Given the description of an element on the screen output the (x, y) to click on. 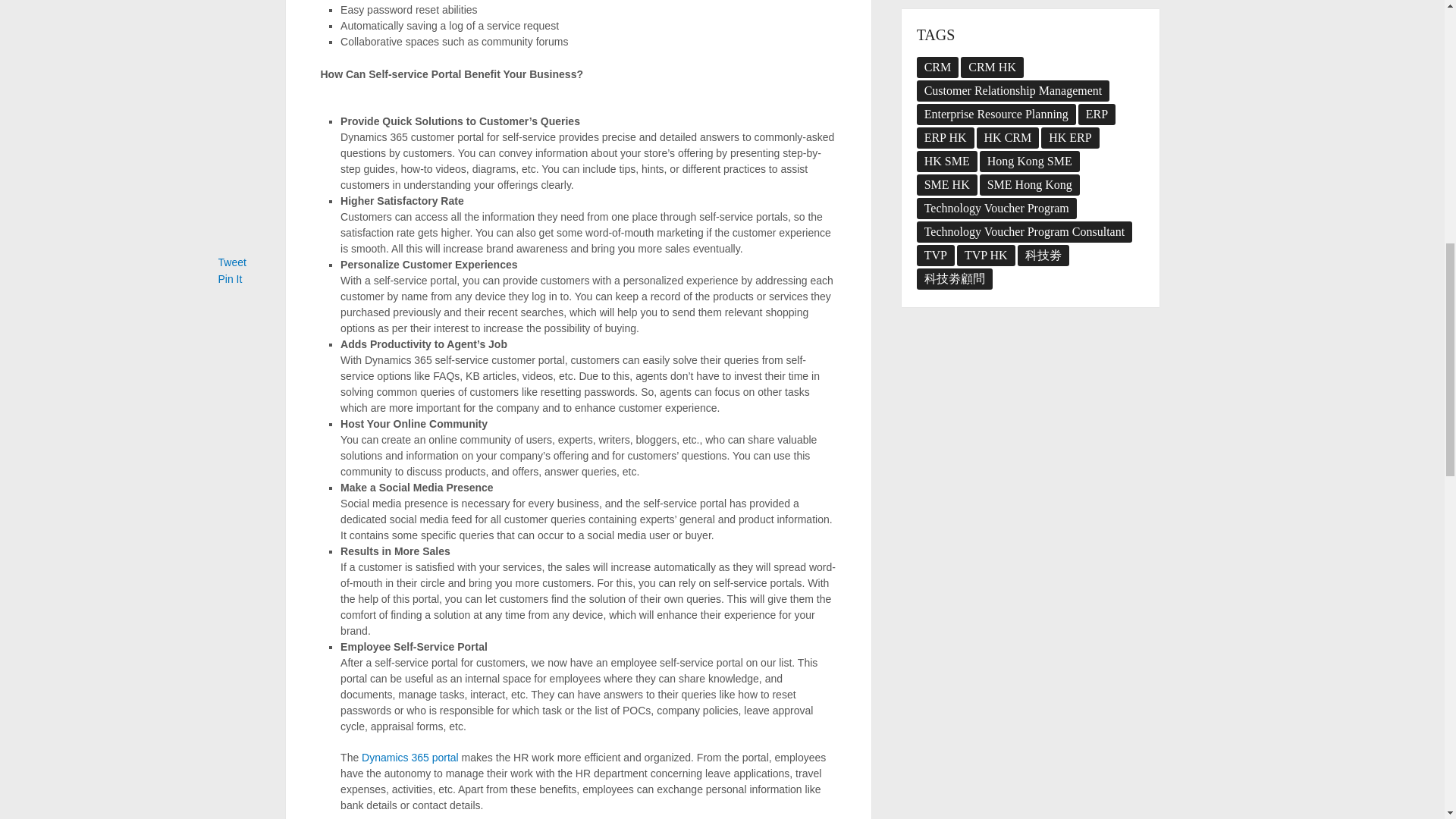
Dynamics 365 portal (409, 757)
